Given the description of an element on the screen output the (x, y) to click on. 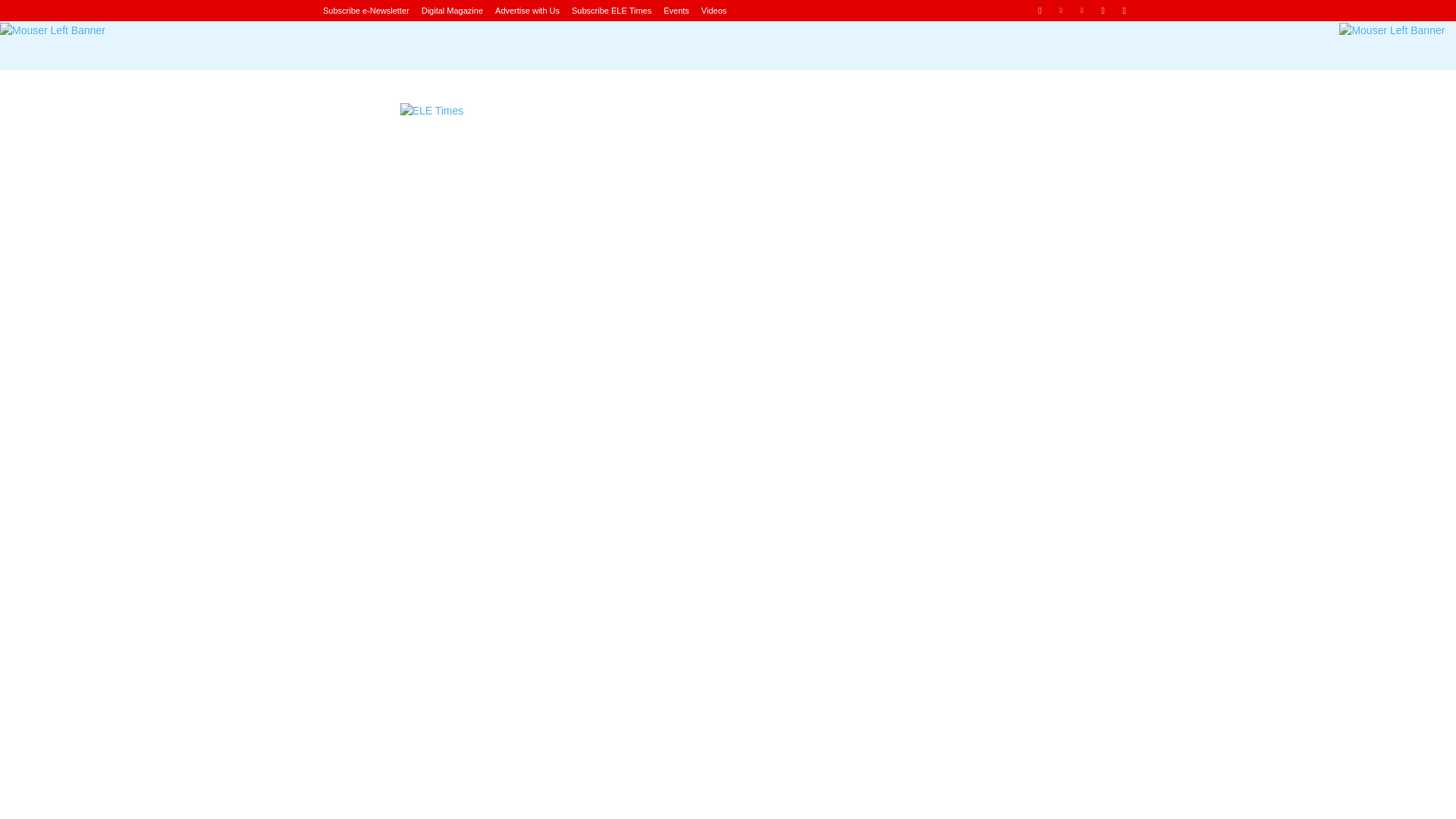
Linkedin (1061, 9)
Pinterest (1082, 9)
Facebook (1039, 9)
Tumblr (1103, 9)
Twitter (1123, 9)
